Given the description of an element on the screen output the (x, y) to click on. 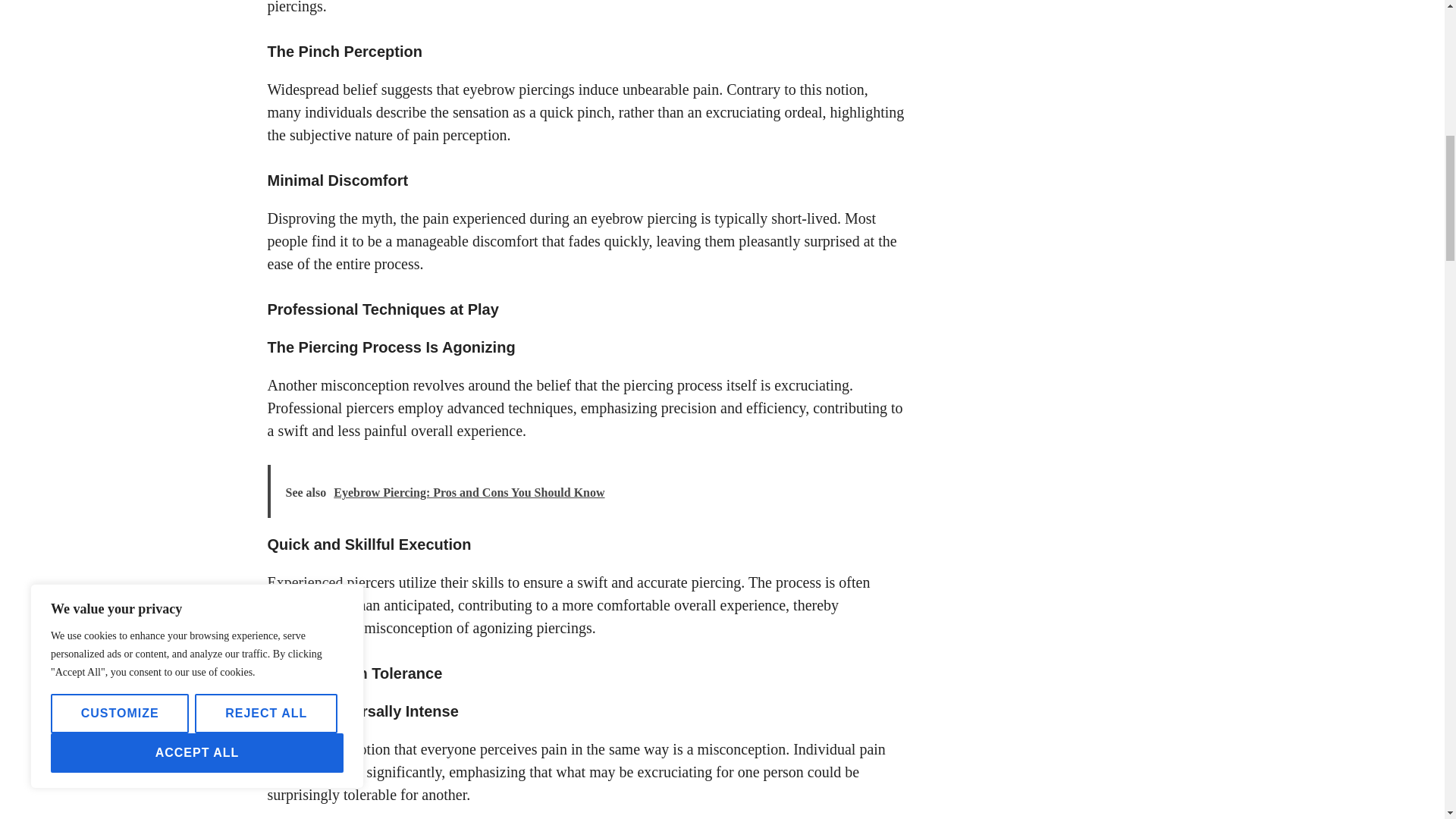
See also  Eyebrow Piercing: Pros and Cons You Should Know (585, 491)
